Given the description of an element on the screen output the (x, y) to click on. 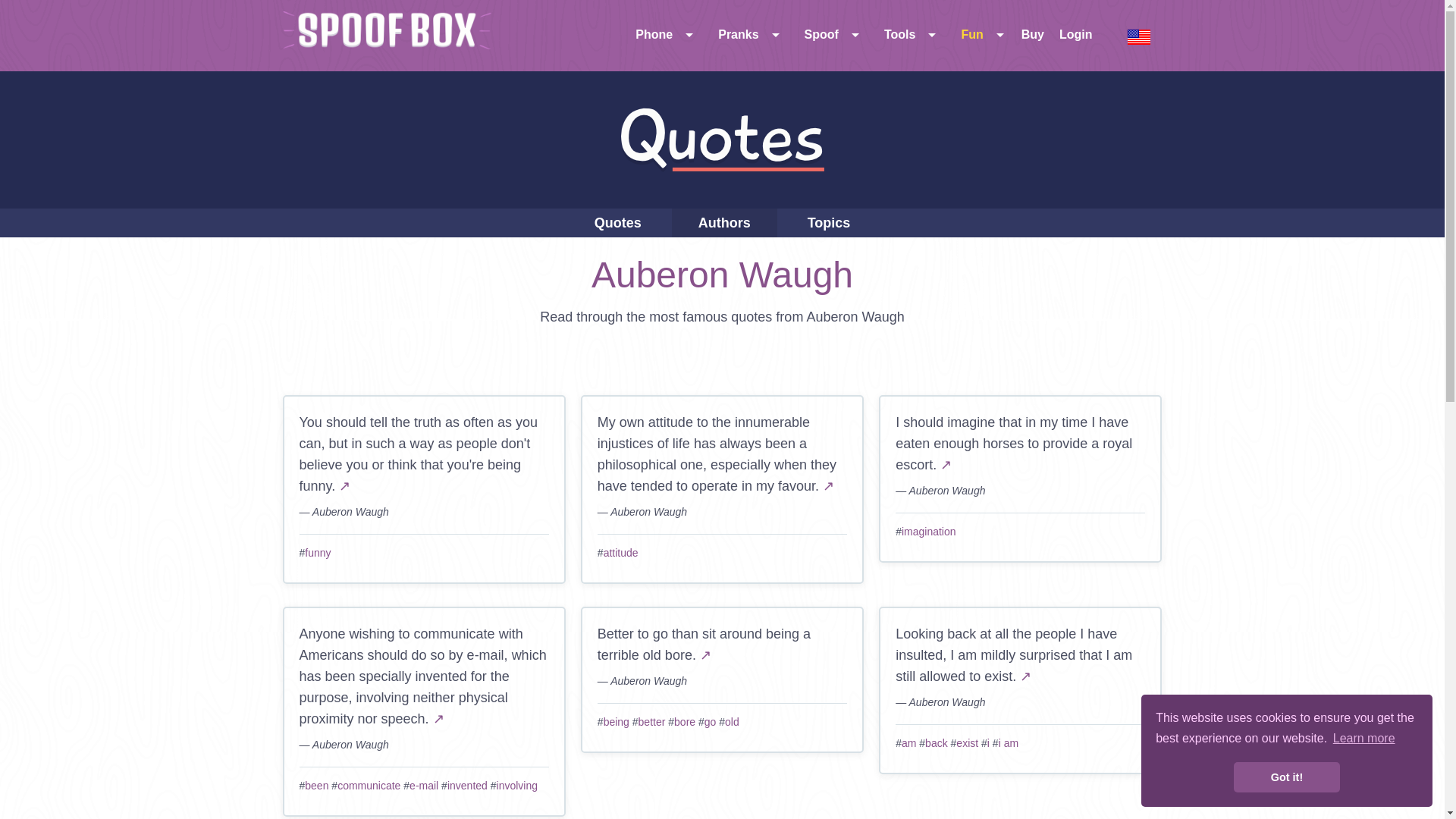
Change language (1138, 35)
Learn more (1363, 738)
Got it! (1286, 777)
